Given the description of an element on the screen output the (x, y) to click on. 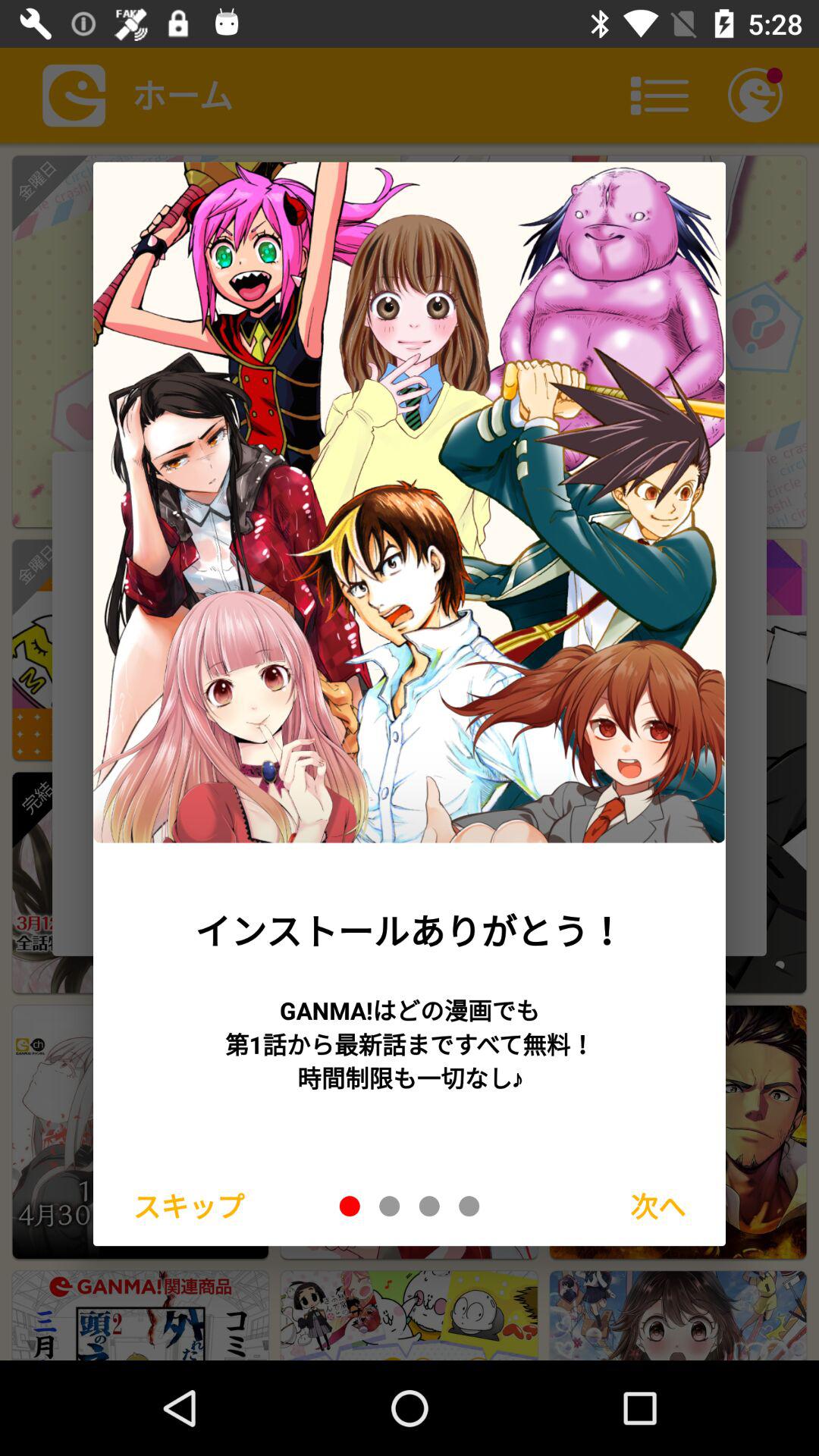
click on the dot (349, 1206)
